Given the description of an element on the screen output the (x, y) to click on. 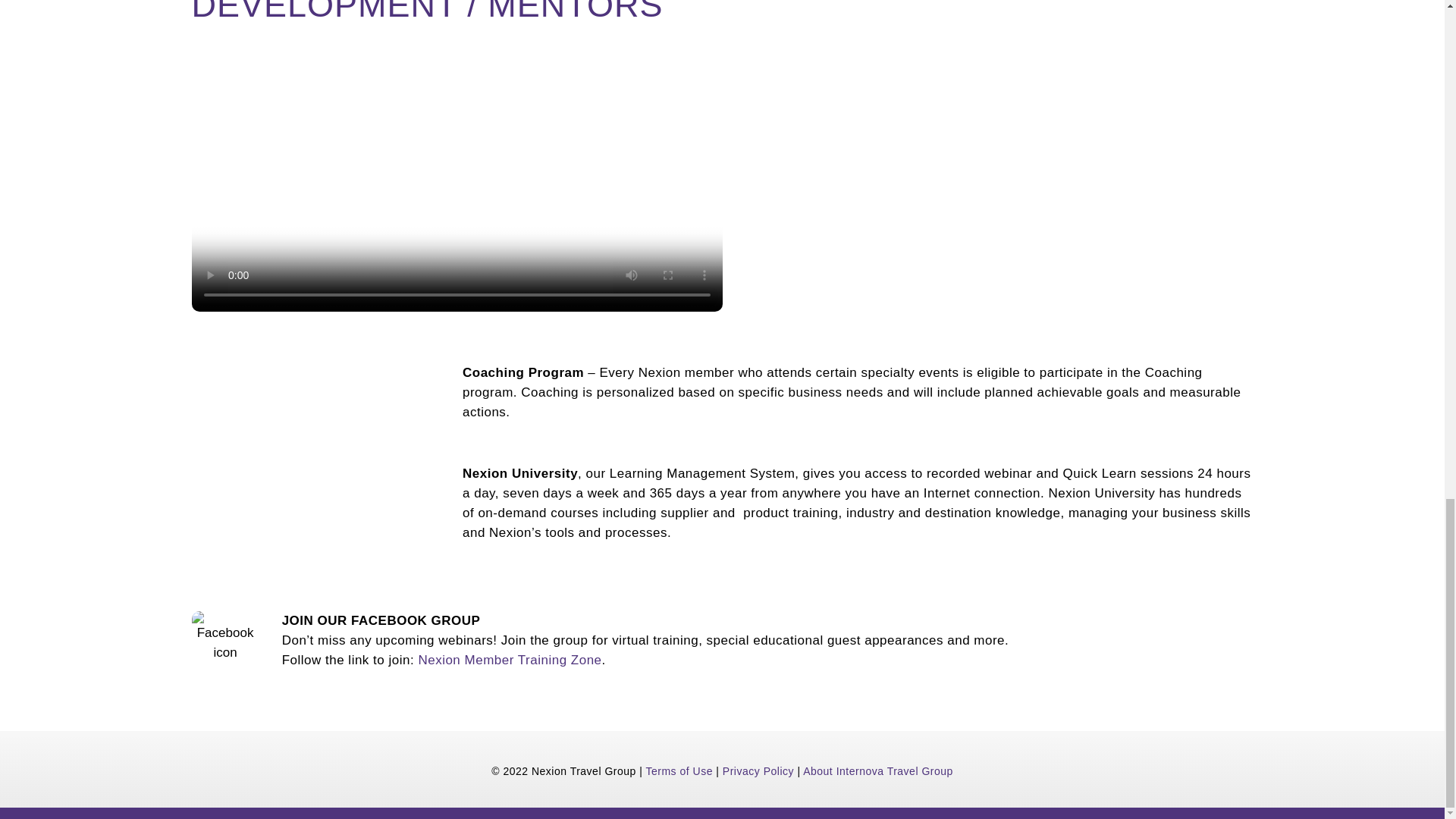
Nexion Member Training Zone (509, 659)
Privacy Policy (757, 770)
Terms of Use (678, 770)
About Internova Travel Group (878, 770)
